Given the description of an element on the screen output the (x, y) to click on. 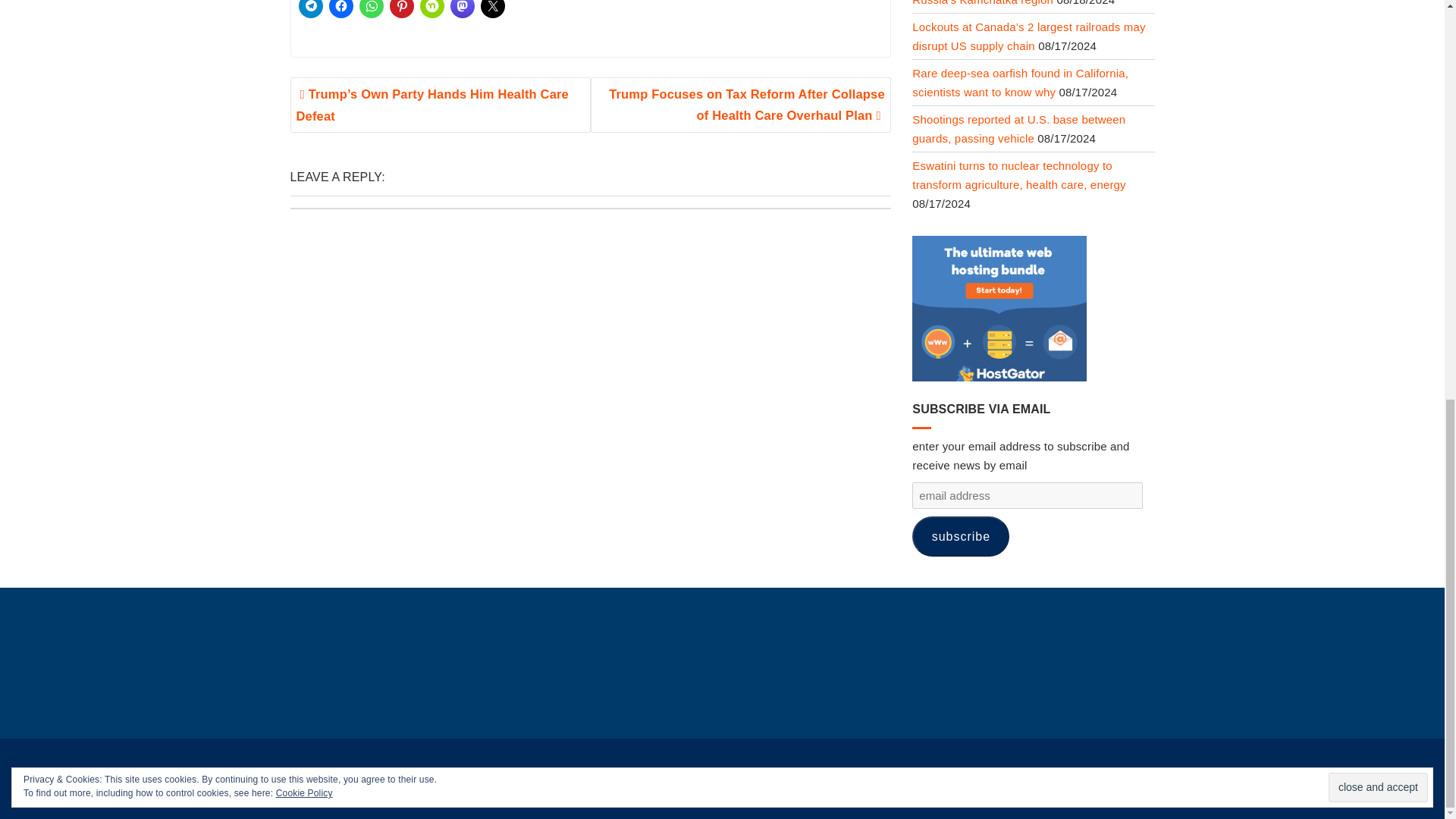
Click to share on Telegram (310, 9)
Click to share on Nextdoor (432, 9)
close and accept (1377, 12)
subscribe (960, 536)
Click to share on Pinterest (401, 9)
